Given the description of an element on the screen output the (x, y) to click on. 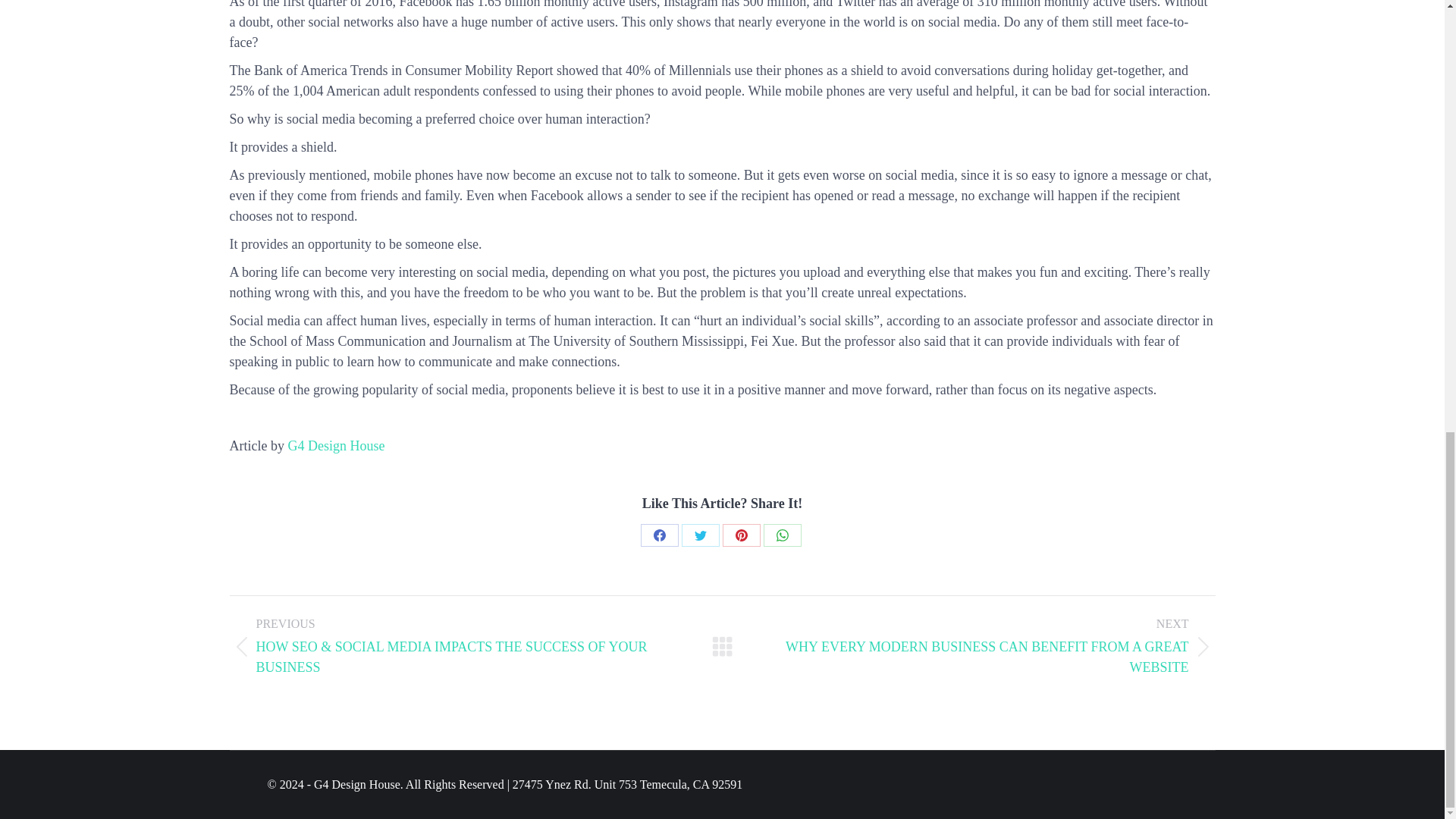
G4 Design House (335, 445)
Share on Facebook (659, 535)
WhatsApp (781, 535)
Share on Twitter (700, 535)
Twitter (700, 535)
Share on WhatsApp (781, 535)
Share on Pinterest (741, 535)
Pinterest (741, 535)
Facebook (659, 535)
